Given the description of an element on the screen output the (x, y) to click on. 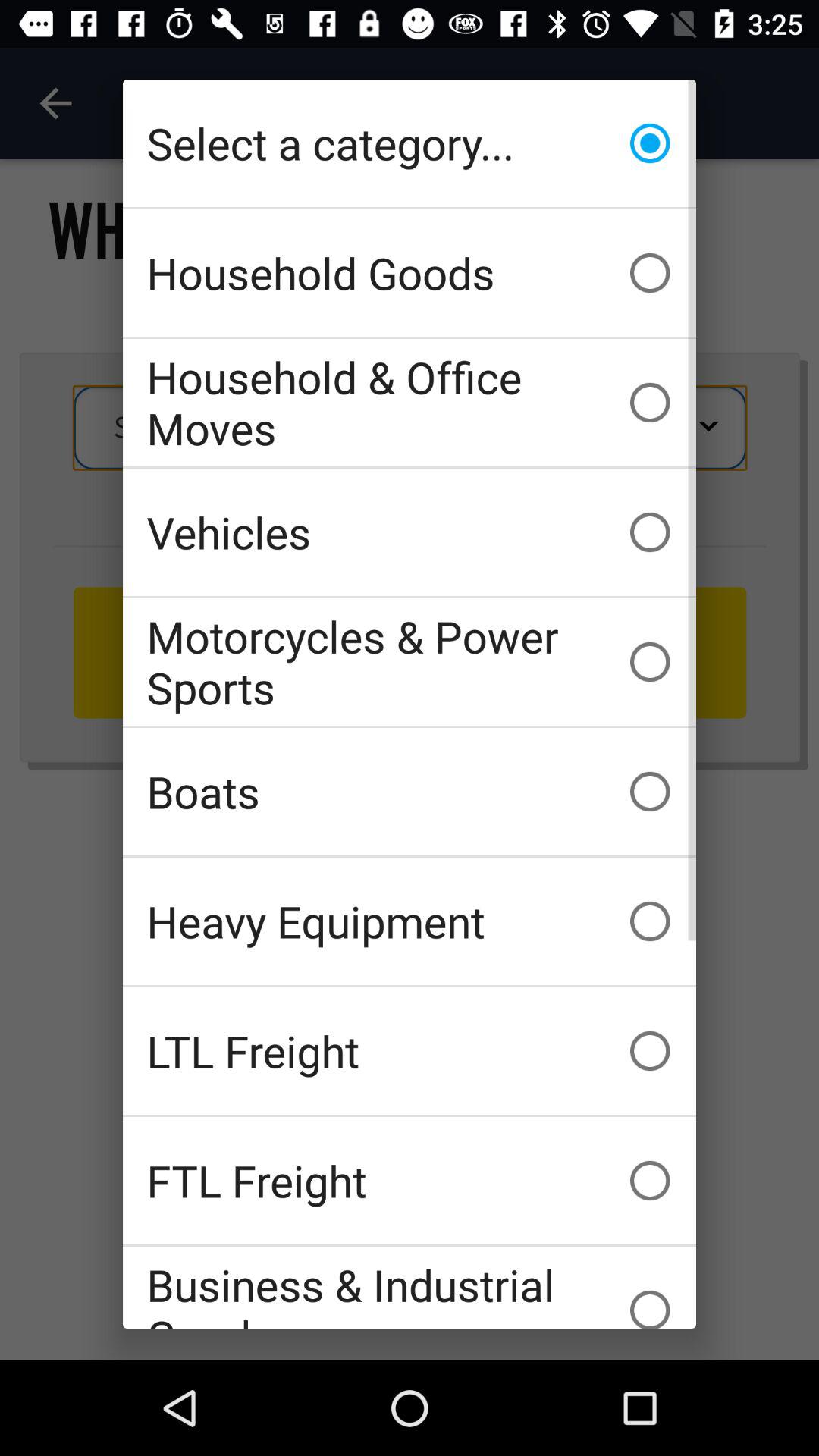
open icon above vehicles (409, 402)
